Given the description of an element on the screen output the (x, y) to click on. 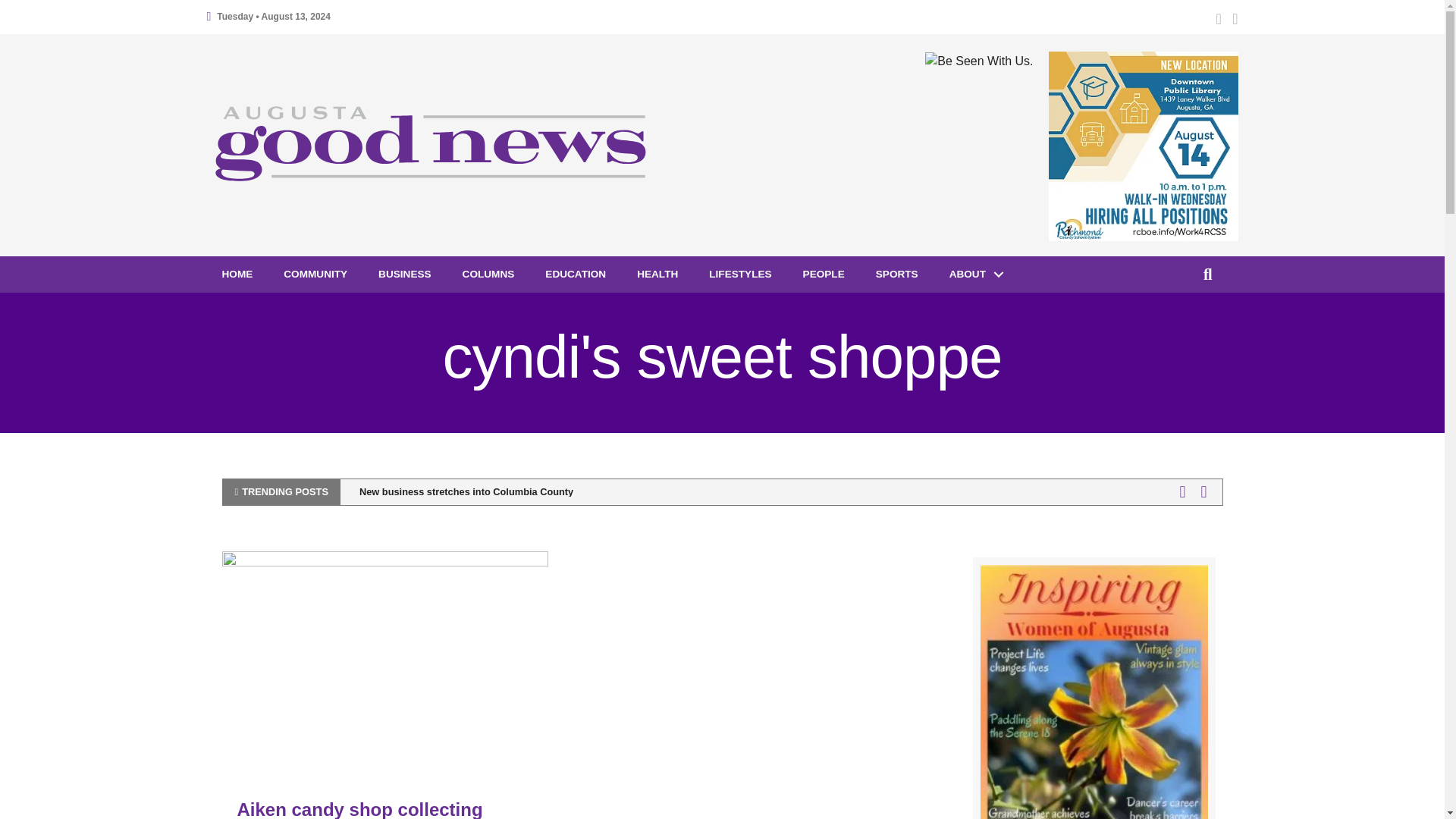
EDUCATION (575, 274)
BUSINESS (404, 274)
HOME (236, 274)
COLUMNS (487, 274)
COMMUNITY (314, 274)
SEARCH (1211, 274)
SPORTS (896, 274)
PEOPLE (823, 274)
New business stretches into Columbia County (466, 491)
Aiken candy shop collecting Valentines for older adults (384, 658)
